Given the description of an element on the screen output the (x, y) to click on. 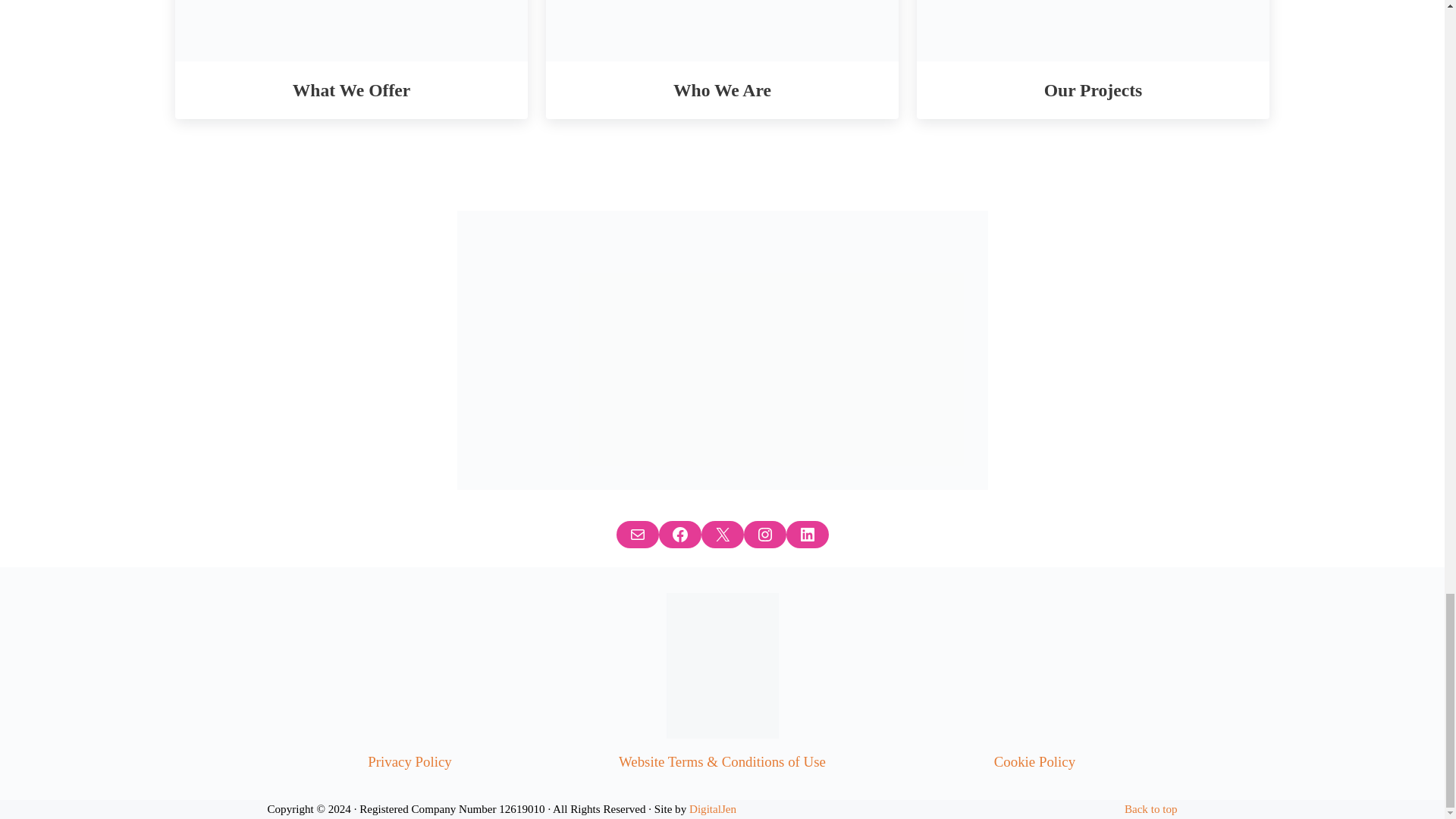
Who We Are (722, 90)
What We Offer (351, 90)
Our Projects (1092, 90)
Facebook (679, 533)
Mail (636, 533)
